Given the description of an element on the screen output the (x, y) to click on. 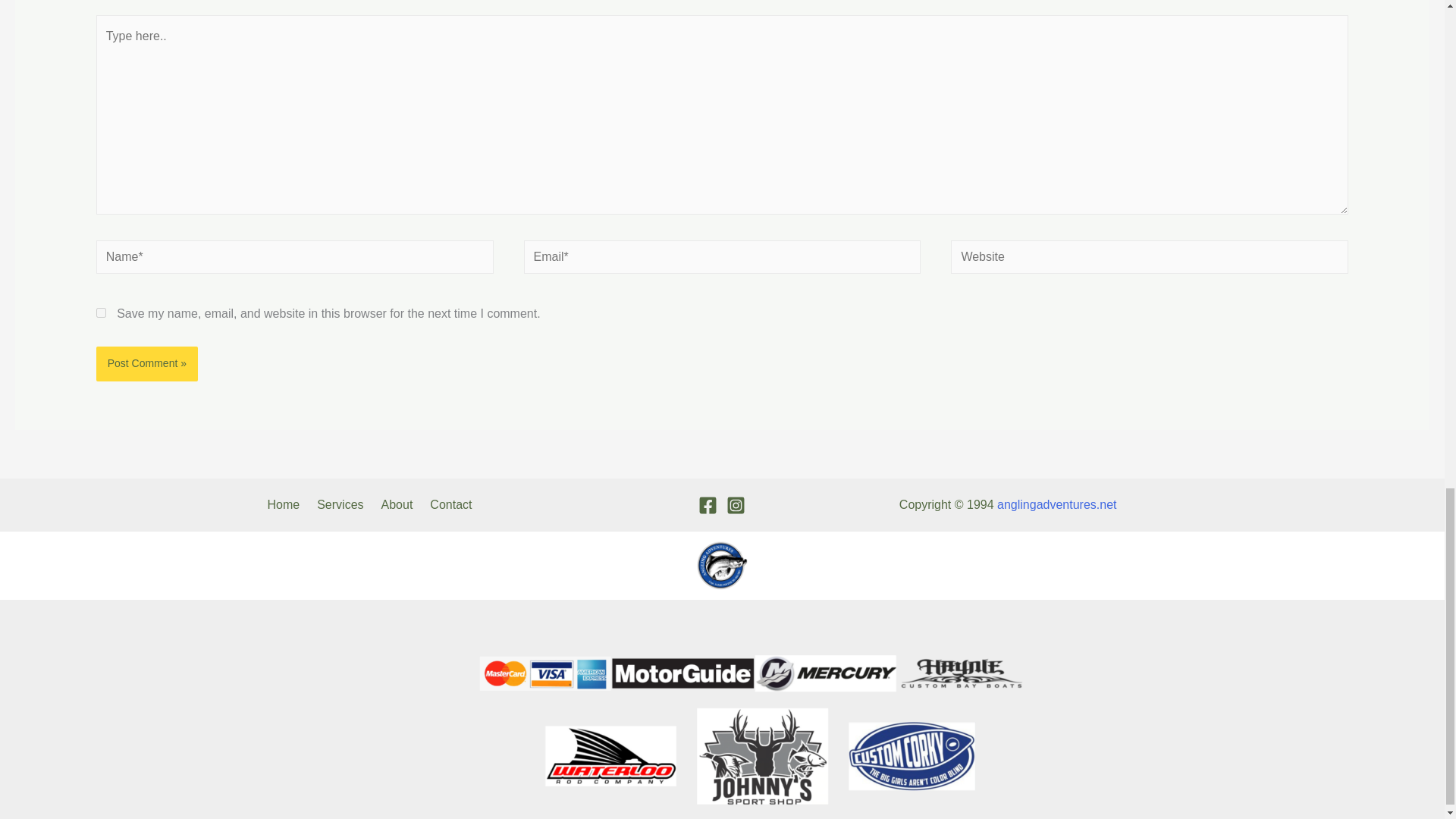
Contact (453, 504)
anglingadventures.net (1056, 504)
Services (342, 504)
yes (101, 312)
About (400, 504)
Home (288, 504)
